Given the description of an element on the screen output the (x, y) to click on. 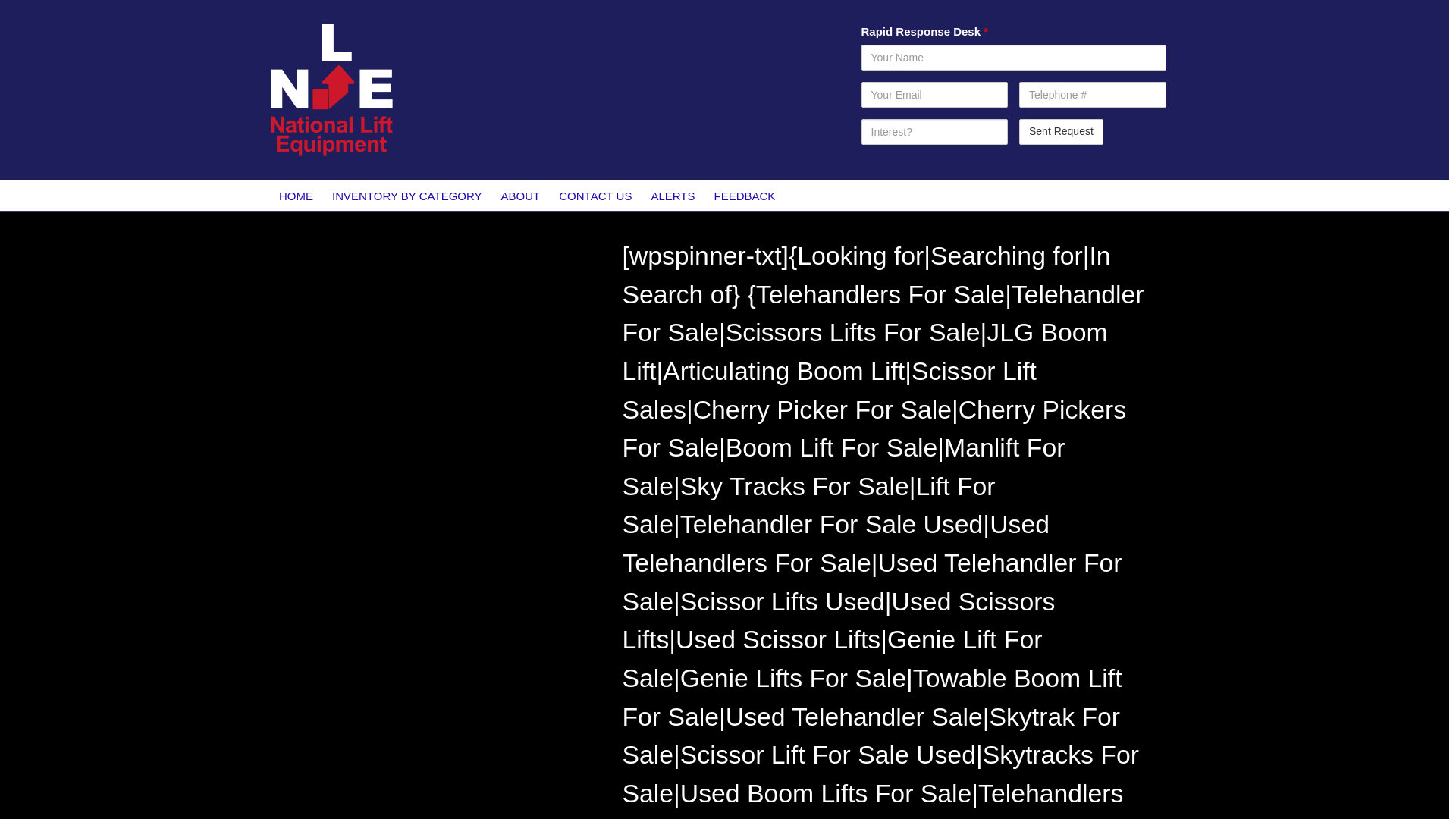
Used Construction Equipment For Sale in Pennsylvania (414, 320)
CONTACT US (596, 195)
Sent Request (1061, 131)
HOME (296, 195)
INVENTORY BY CATEGORY (407, 195)
Sent Request (1061, 131)
ABOUT (521, 195)
ALERTS (673, 195)
FEEDBACK (744, 195)
